Given the description of an element on the screen output the (x, y) to click on. 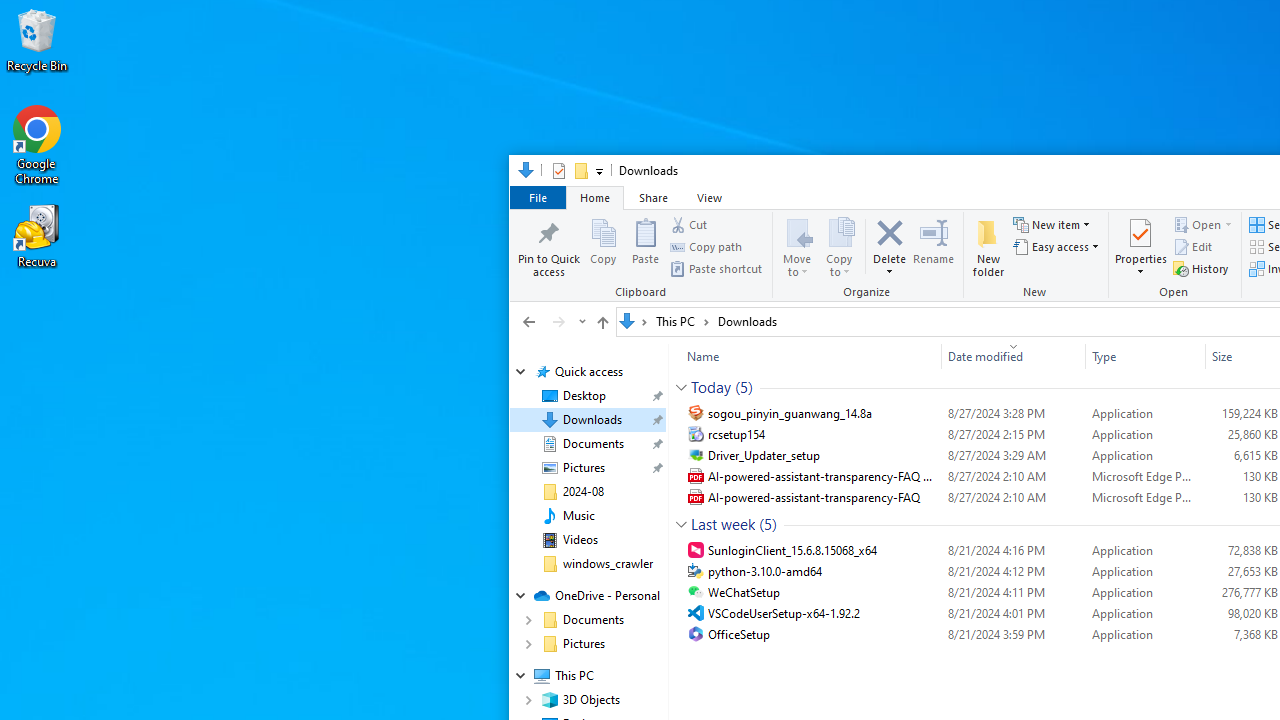
Back to Desktop (Alt + Left Arrow) (529, 321)
Edit (1192, 246)
Pictures (pinned) (583, 467)
Delete (890, 265)
Easy access (1055, 246)
Name (824, 634)
Paste shortcut (715, 268)
Share (653, 196)
Copy (603, 246)
Date modified (1013, 356)
Downloads (747, 321)
Quick access (588, 371)
Up band toolbar (602, 325)
Date modified (1013, 634)
